Given the description of an element on the screen output the (x, y) to click on. 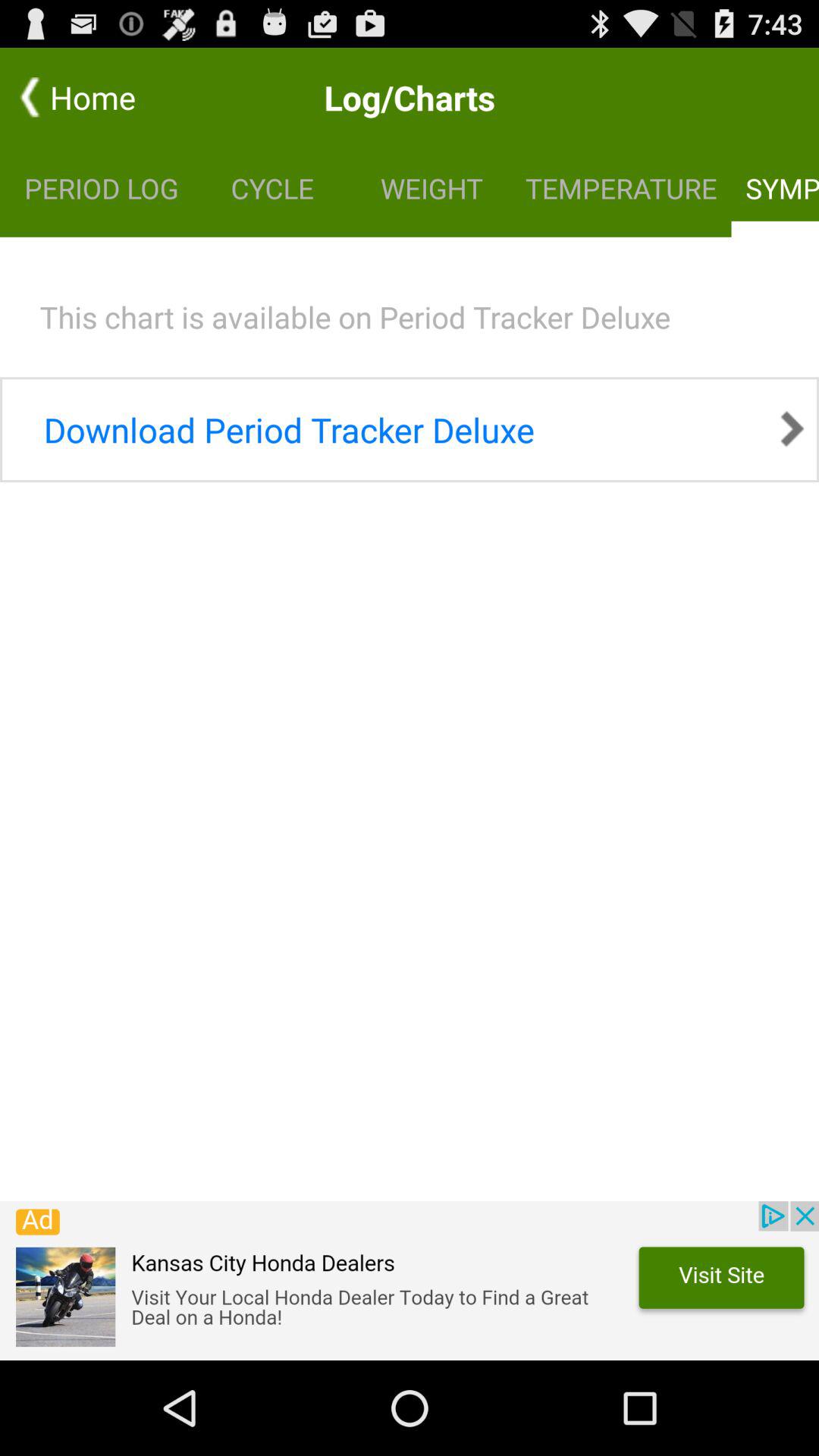
open the advertisement (409, 1280)
